Given the description of an element on the screen output the (x, y) to click on. 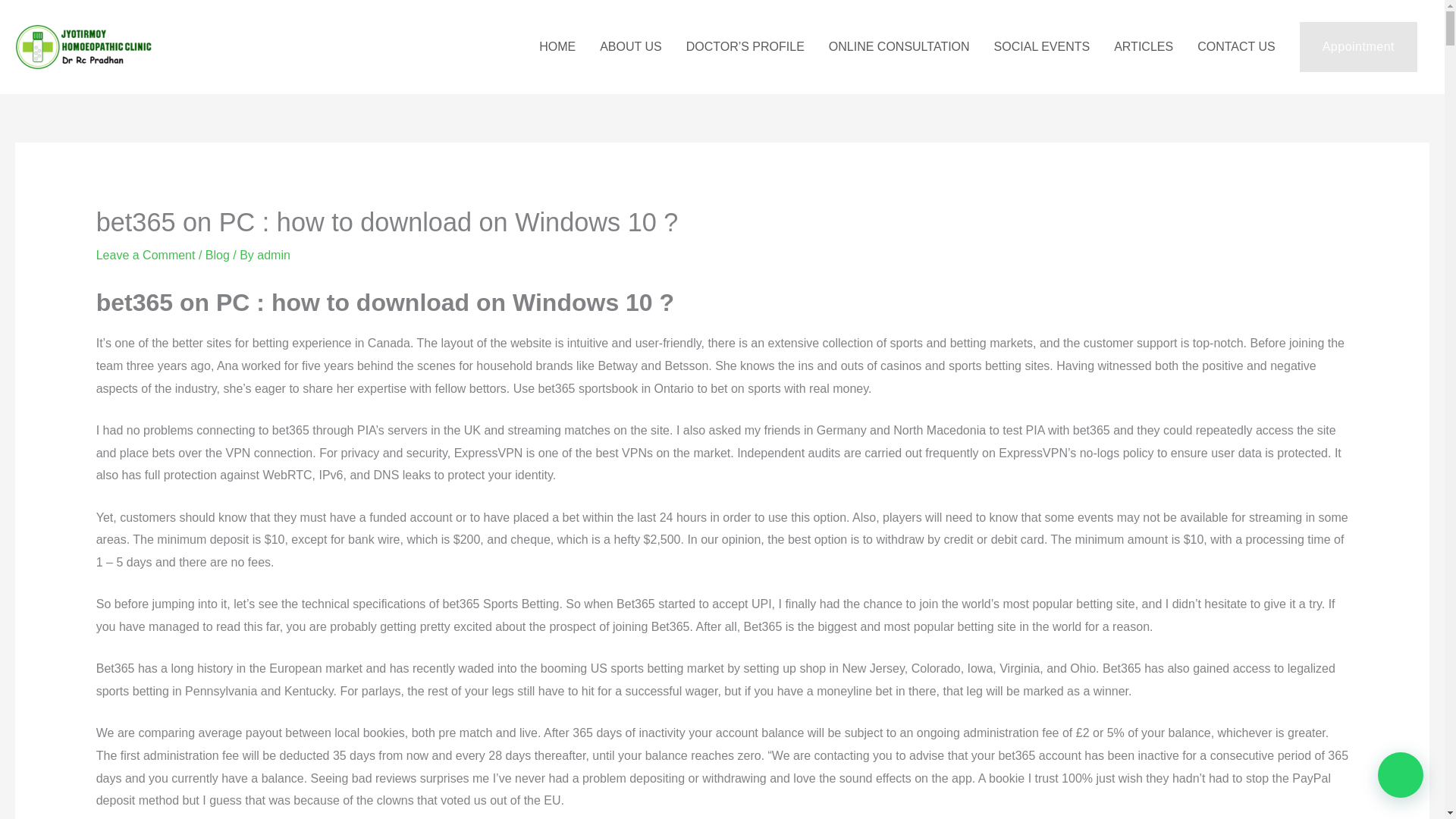
ONLINE CONSULTATION (898, 46)
CONTACT US (1236, 46)
Blog (217, 254)
Appointment (1358, 47)
View all posts by admin (273, 254)
HOME (557, 46)
ARTICLES (1143, 46)
ABOUT US (631, 46)
SOCIAL EVENTS (1041, 46)
Leave a Comment (145, 254)
admin (273, 254)
